Given the description of an element on the screen output the (x, y) to click on. 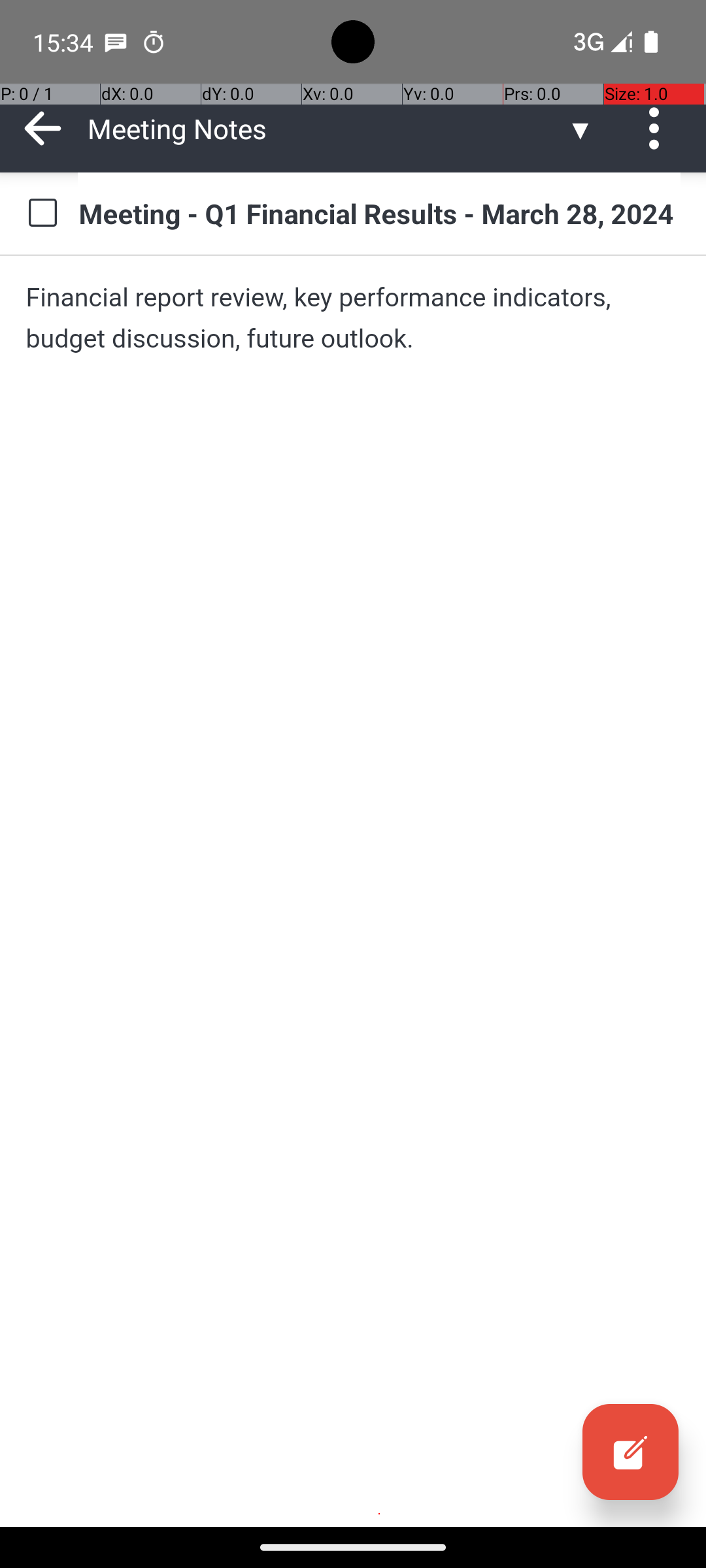
Financial report review, key performance indicators, budget discussion, future outlook. Element type: android.widget.TextView (352, 317)
